Given the description of an element on the screen output the (x, y) to click on. 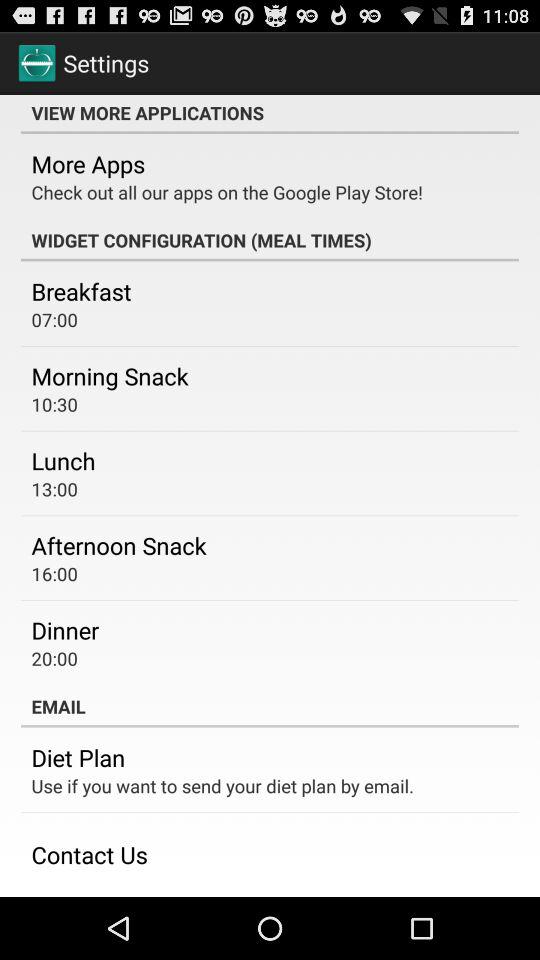
flip to use if you icon (222, 785)
